Given the description of an element on the screen output the (x, y) to click on. 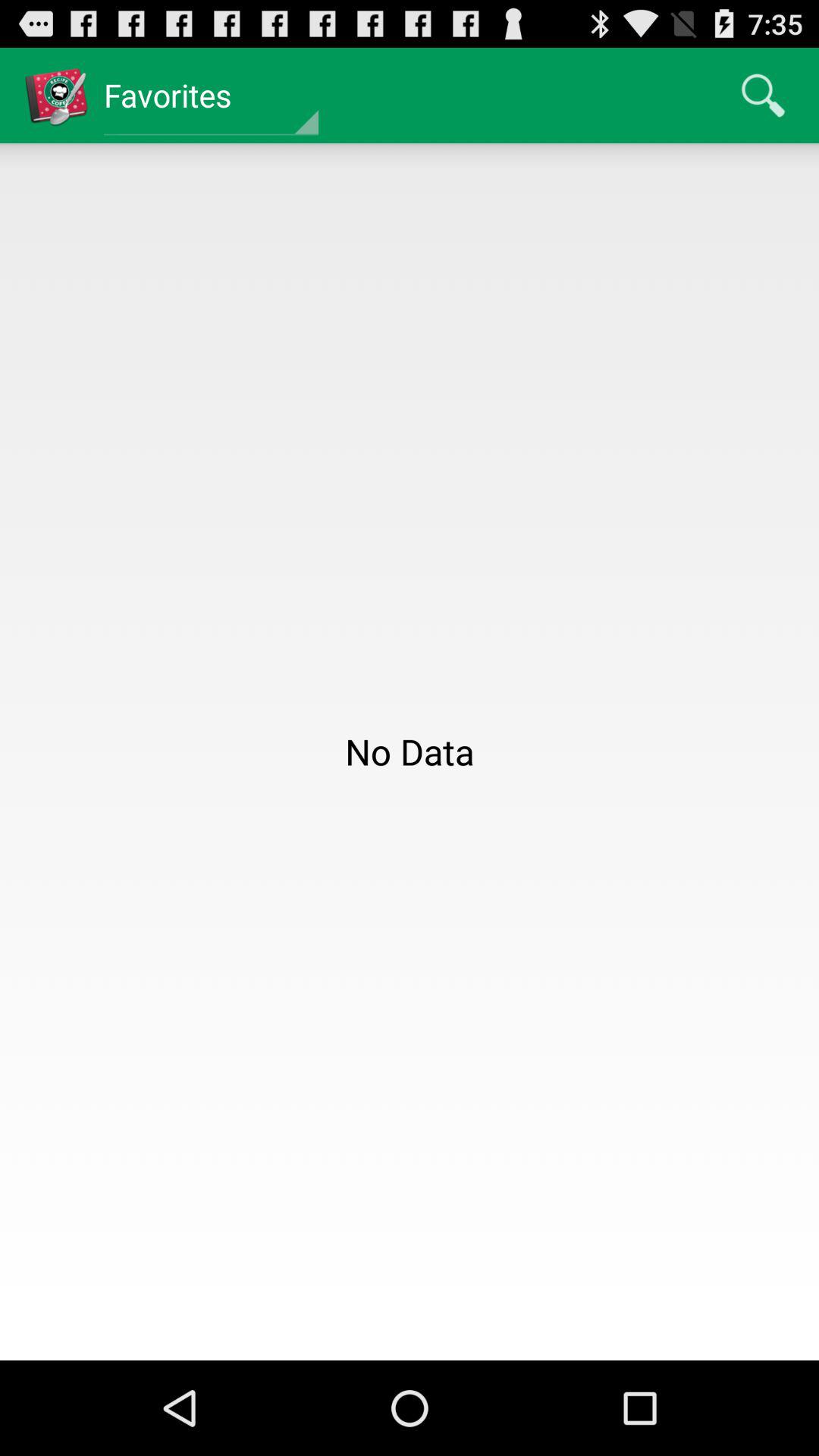
turn off the item above the no data app (763, 95)
